Given the description of an element on the screen output the (x, y) to click on. 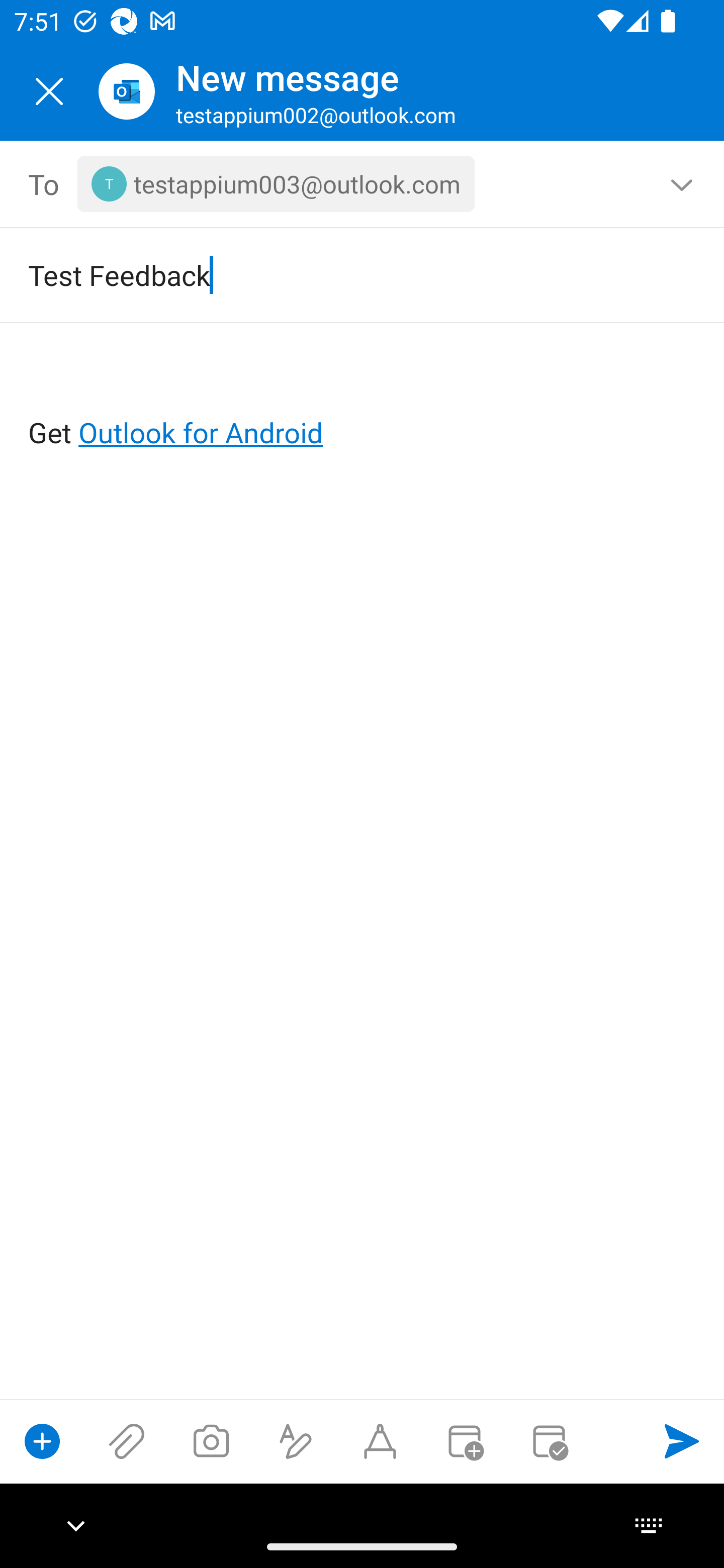
Close (49, 91)
To, 1 recipient <testappium003@outlook.com> (362, 184)
Test Feedback (333, 274)


Get Outlook for Android (363, 400)
Show compose options (42, 1440)
Attach files (126, 1440)
Take a photo (210, 1440)
Show formatting options (295, 1440)
Start Ink compose (380, 1440)
Convert to event (464, 1440)
Send availability (548, 1440)
Send (681, 1440)
